Given the description of an element on the screen output the (x, y) to click on. 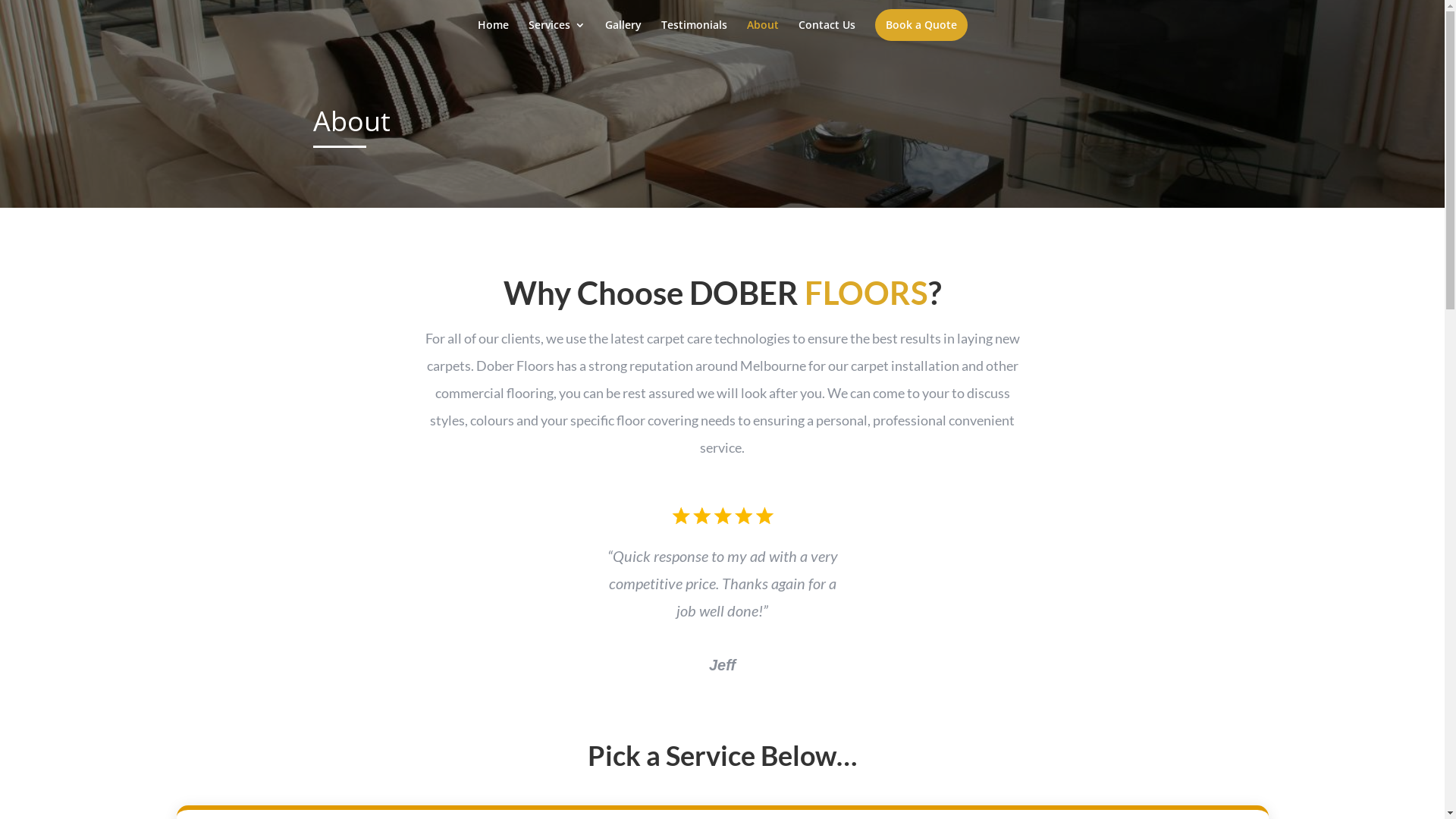
Home Element type: text (492, 35)
Book a Quote Element type: text (921, 24)
Contact Us Element type: text (825, 35)
Testimonials Element type: text (694, 35)
Gallery Element type: text (623, 35)
DOBER FLOORS Element type: text (807, 292)
About Element type: text (762, 35)
Services Element type: text (555, 35)
